Given the description of an element on the screen output the (x, y) to click on. 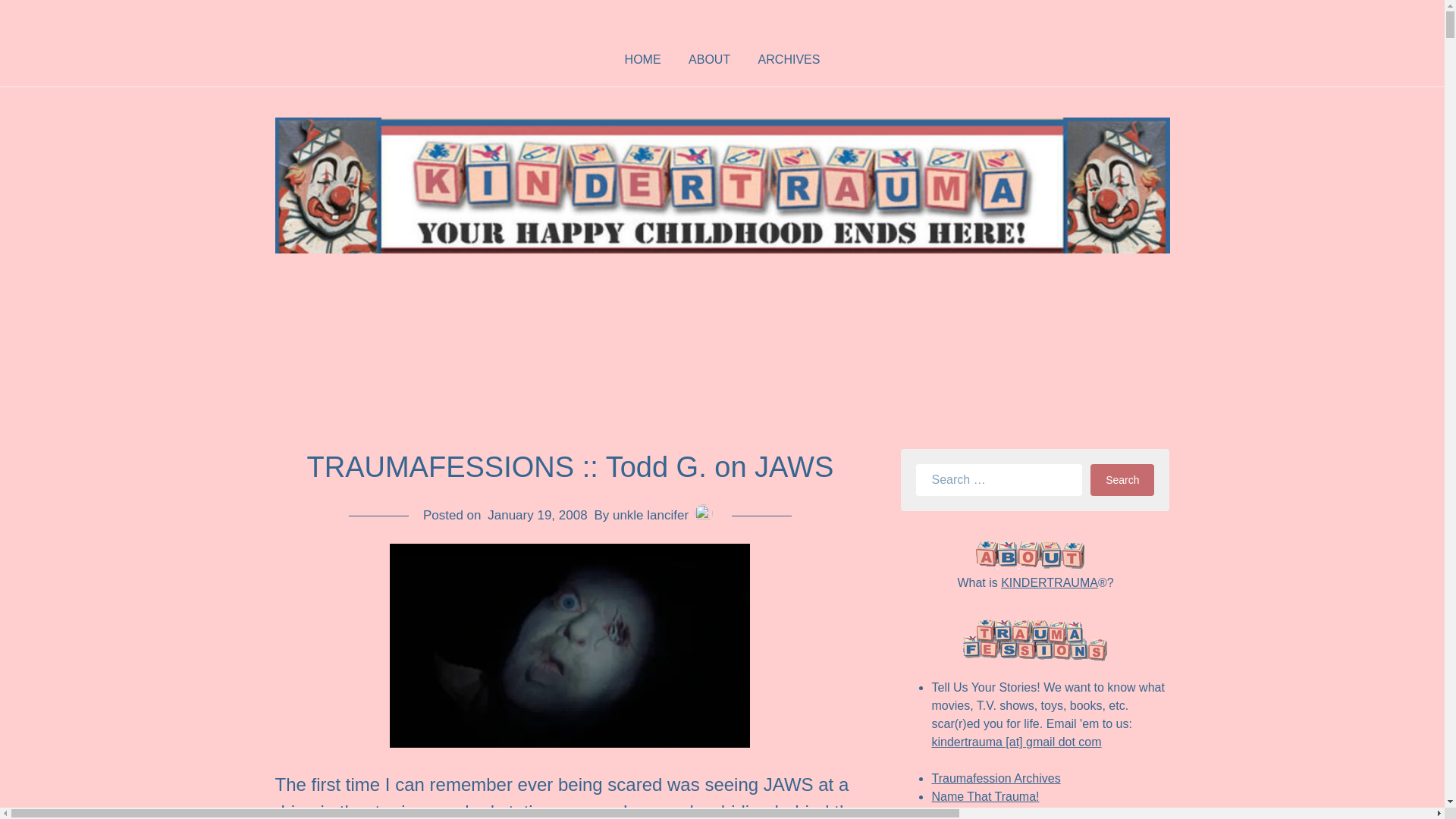
HOME (642, 60)
It's a Horror to Know You! (999, 813)
Name That Trauma! (985, 796)
Traumafession Archives (995, 778)
Search (1122, 480)
January 19, 2008 (536, 514)
Search (1122, 480)
ARCHIVES (788, 60)
KINDERTRAUMA (1049, 582)
ABOUT (709, 60)
